Given the description of an element on the screen output the (x, y) to click on. 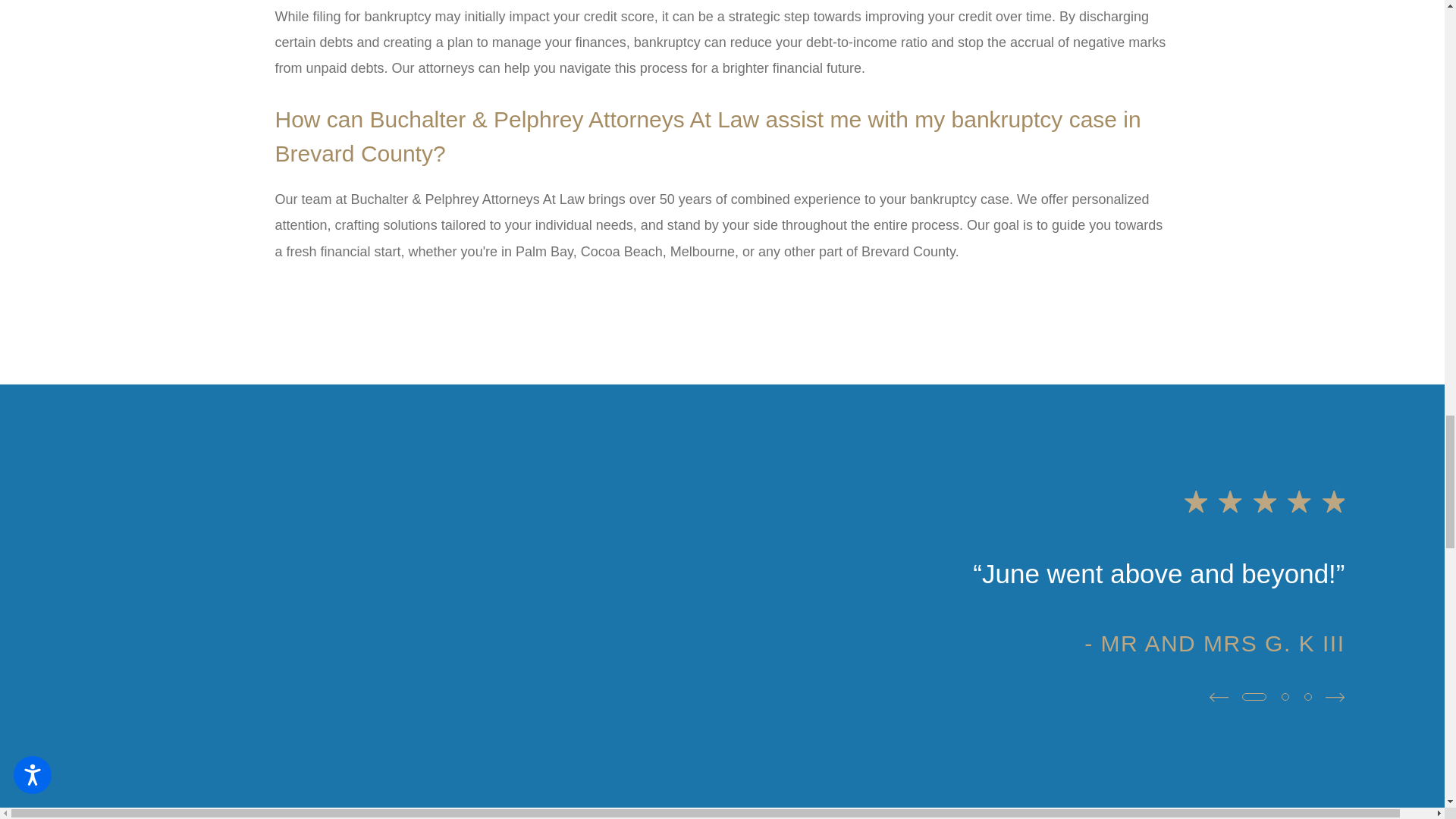
View Item 1 (1253, 696)
View next item (1333, 696)
View previous item (1218, 696)
View Item 3 (1307, 696)
View Item 2 (1284, 696)
